Given the description of an element on the screen output the (x, y) to click on. 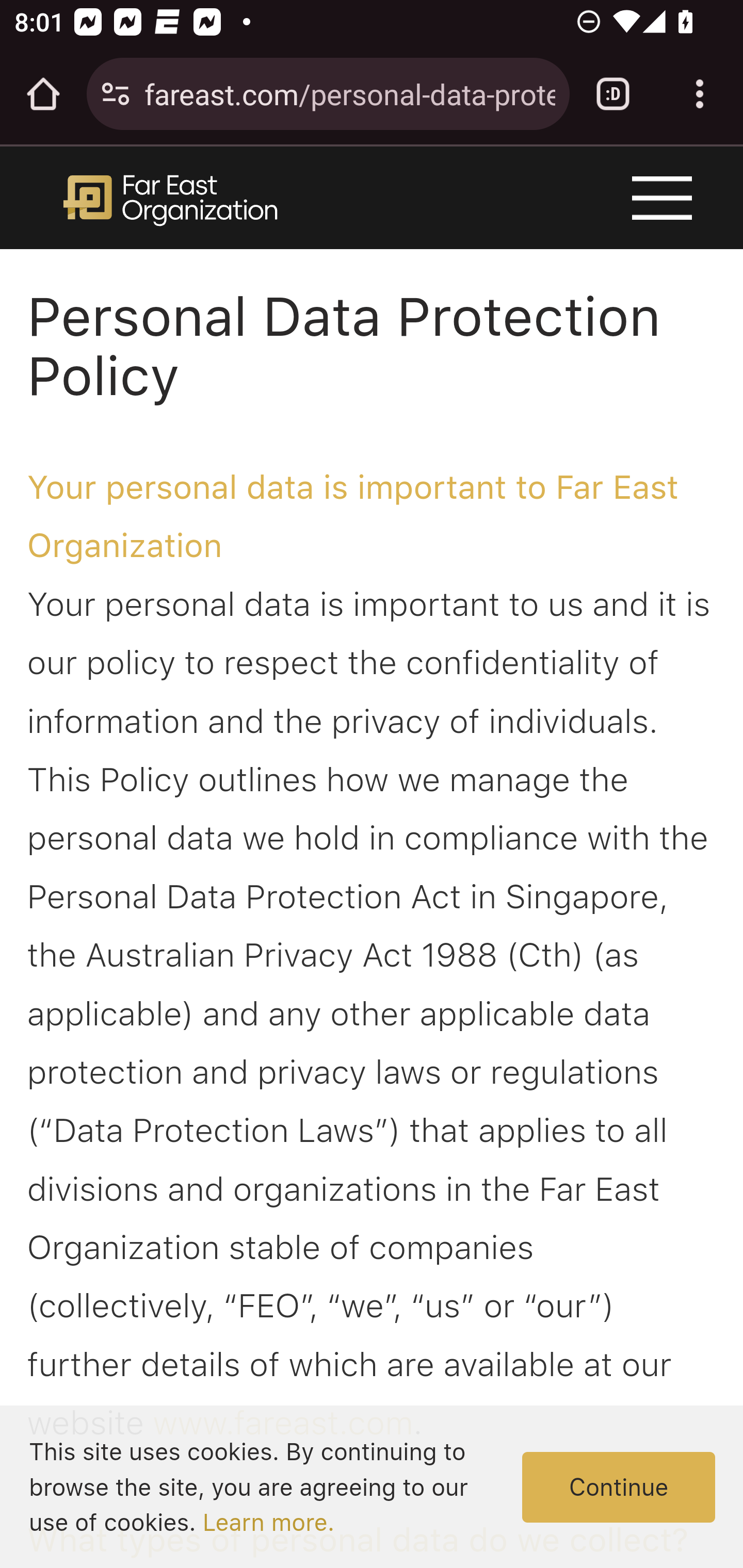
Open the home page (43, 93)
Connection is secure (115, 93)
Switch or close tabs (612, 93)
Customize and control Google Chrome (699, 93)
fareast.com/personal-data-protection-policy (349, 92)
Far East Logo (169, 197)
javascript:void(0) (664, 201)
Continue (618, 1487)
Learn more. (268, 1522)
